Given the description of an element on the screen output the (x, y) to click on. 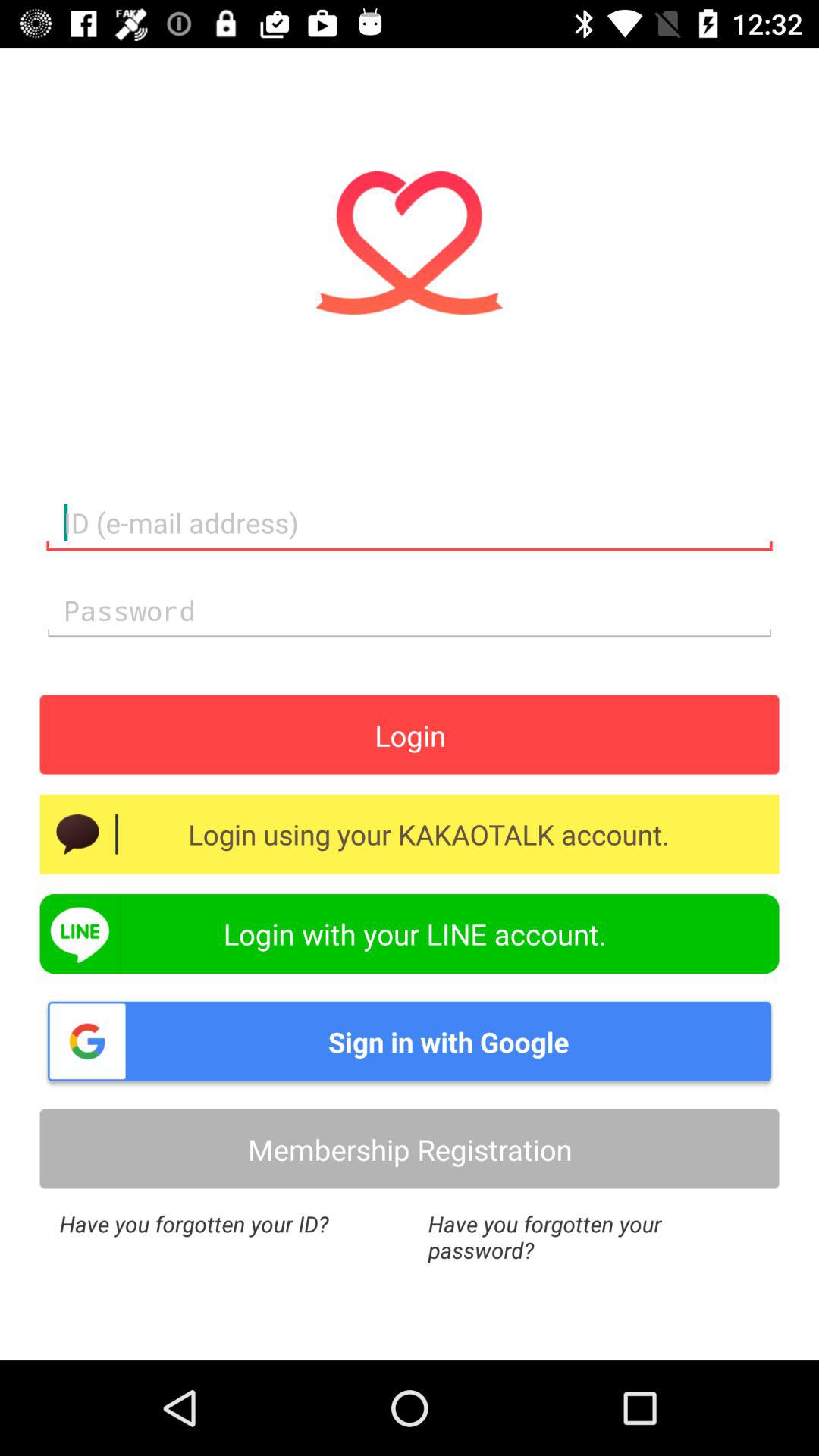
jump until the membership registration item (409, 1148)
